Given the description of an element on the screen output the (x, y) to click on. 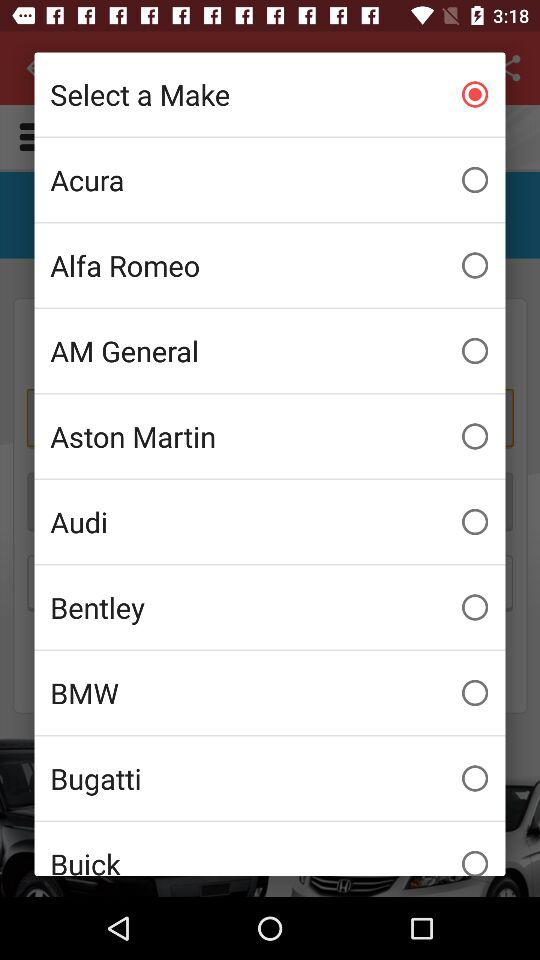
turn off the icon below the bentley item (269, 693)
